Given the description of an element on the screen output the (x, y) to click on. 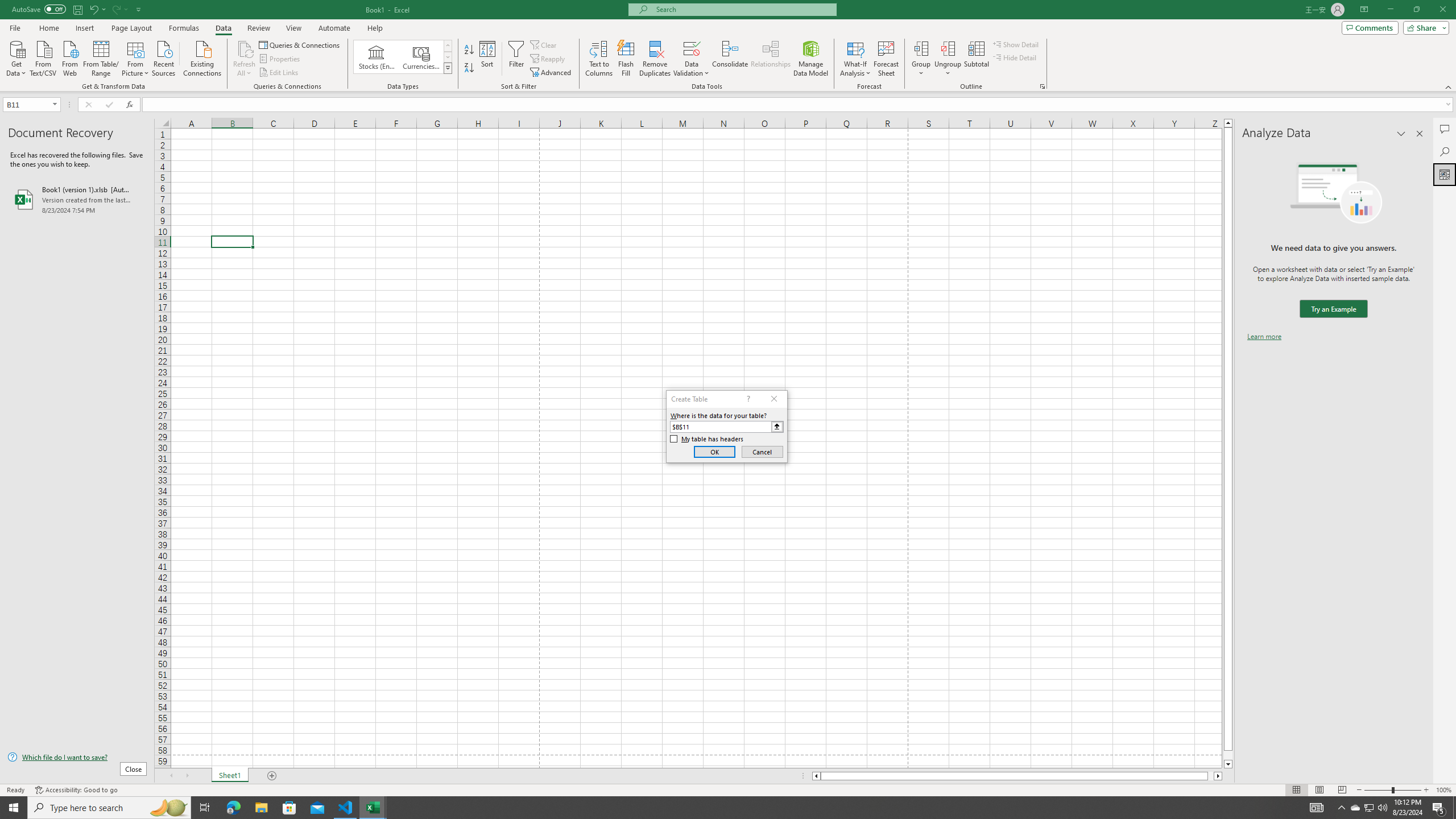
Filter (515, 58)
Zoom Out (1377, 790)
Analyze Data (1444, 173)
Share (1423, 27)
Manage Data Model (810, 58)
Text to Columns... (598, 58)
Subtotal (976, 58)
Relationships (770, 58)
Data Validation... (691, 58)
Data (223, 28)
Open (54, 104)
AutoSave (38, 9)
Remove Duplicates (654, 58)
Which file do I want to save? (77, 757)
